Given the description of an element on the screen output the (x, y) to click on. 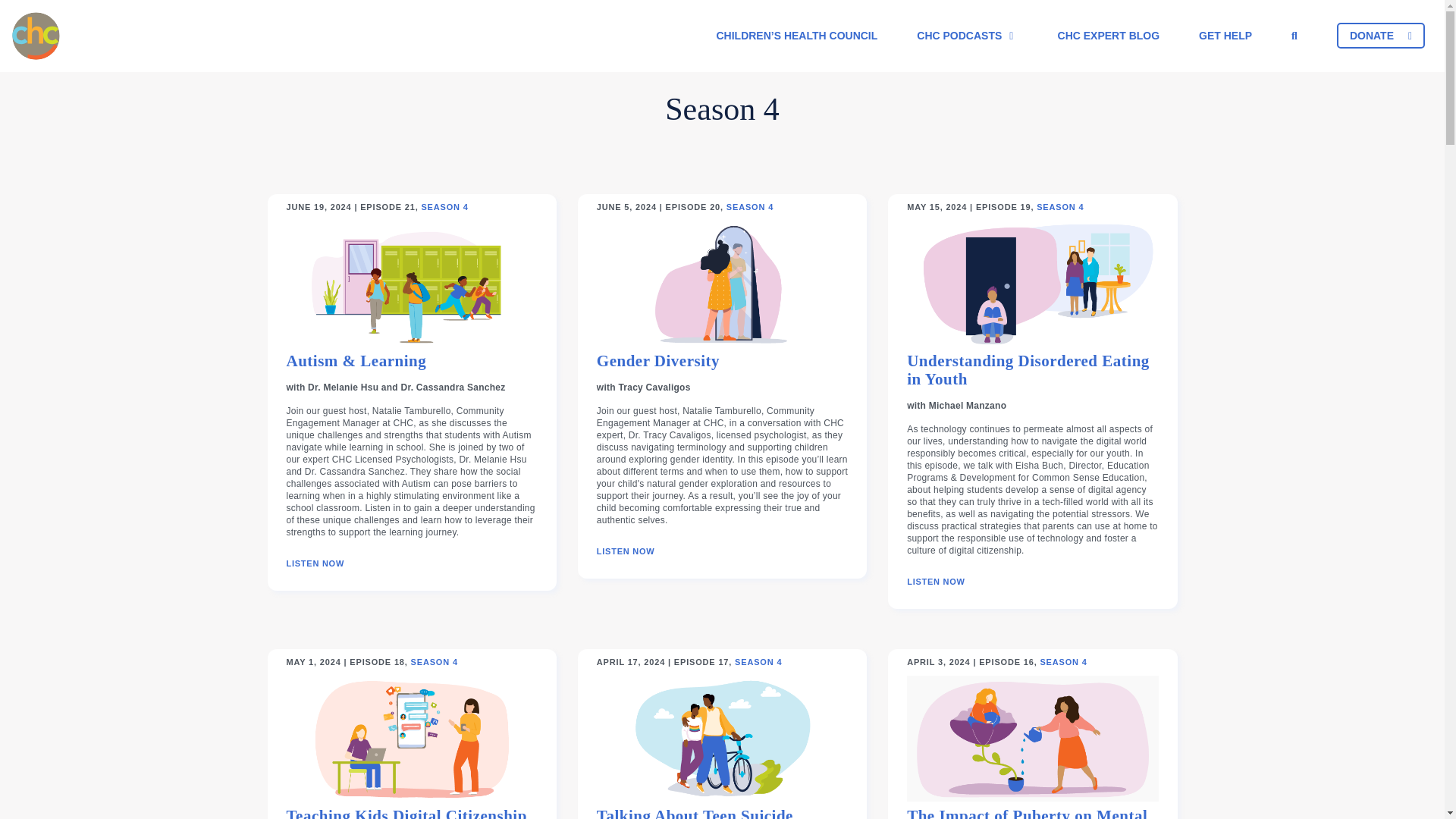
SEASON 4 (1062, 662)
SEASON 4 (749, 206)
LISTEN NOW (315, 563)
The Impact of Puberty on Mental Health (1032, 812)
CHC PODCASTS (966, 36)
GET HELP (1225, 36)
SEASON 4 (1059, 206)
Talking About Teen Suicide (694, 812)
Teaching Kids Digital Citizenship (406, 812)
LISTEN NOW (625, 551)
CHC EXPERT BLOG (1108, 36)
View the post titled 'Gender Diversity'. (625, 551)
SEASON 4 (758, 662)
Gender Diversity (657, 366)
